Given the description of an element on the screen output the (x, y) to click on. 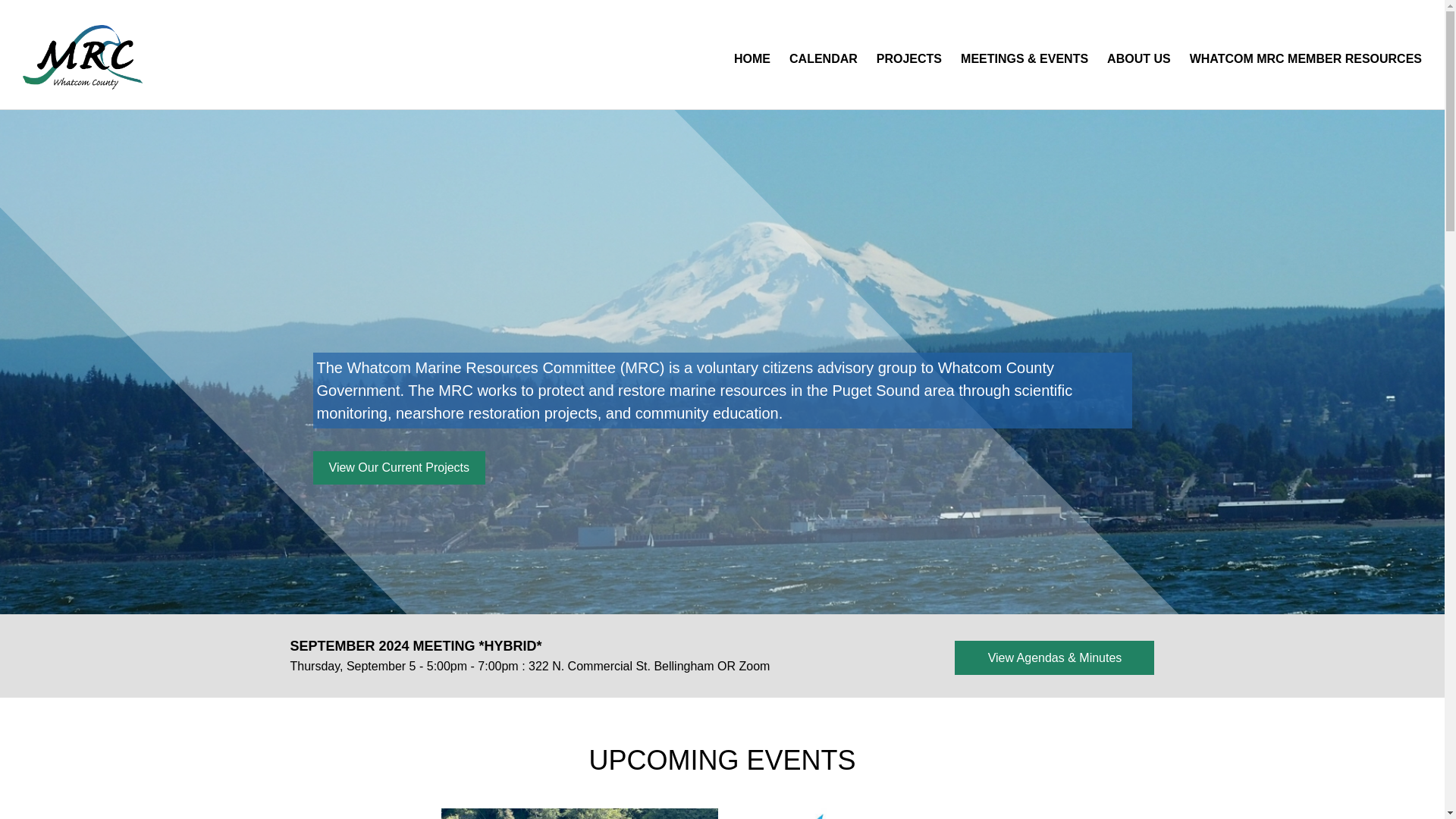
View Our Current Projects (398, 467)
ABOUT US (1139, 59)
HOME (751, 59)
WHATCOM MRC MEMBER RESOURCES (1304, 59)
CALENDAR (823, 59)
PROJECTS (908, 59)
